Given the description of an element on the screen output the (x, y) to click on. 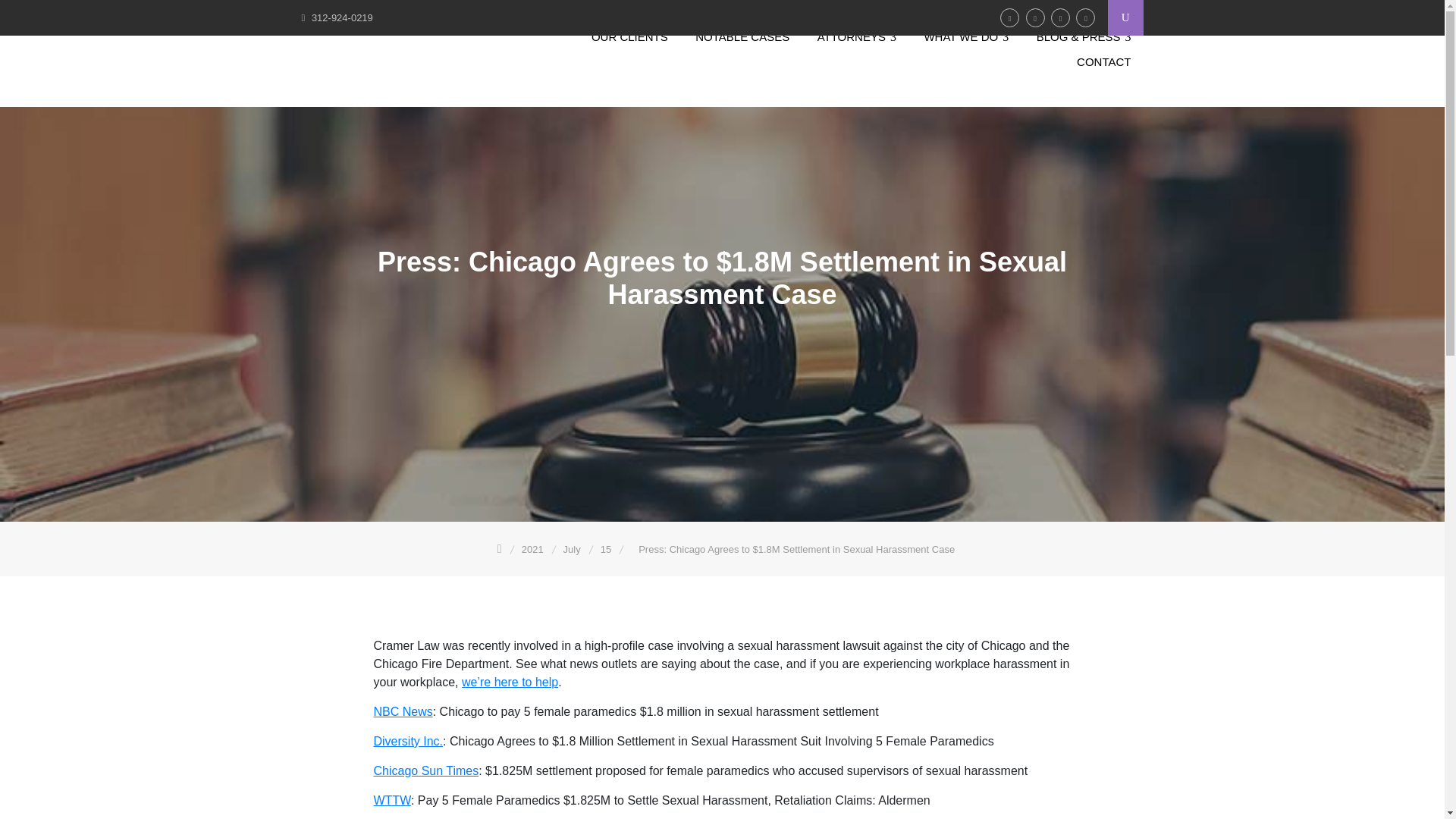
Facebook (1009, 17)
312-924-0219 (341, 17)
Instagram (1084, 17)
YouTube (1060, 17)
Search (48, 15)
OUR CLIENTS (629, 36)
LinkedIn (1035, 17)
NOTABLE CASES (742, 36)
ATTORNEYS (856, 36)
